Given the description of an element on the screen output the (x, y) to click on. 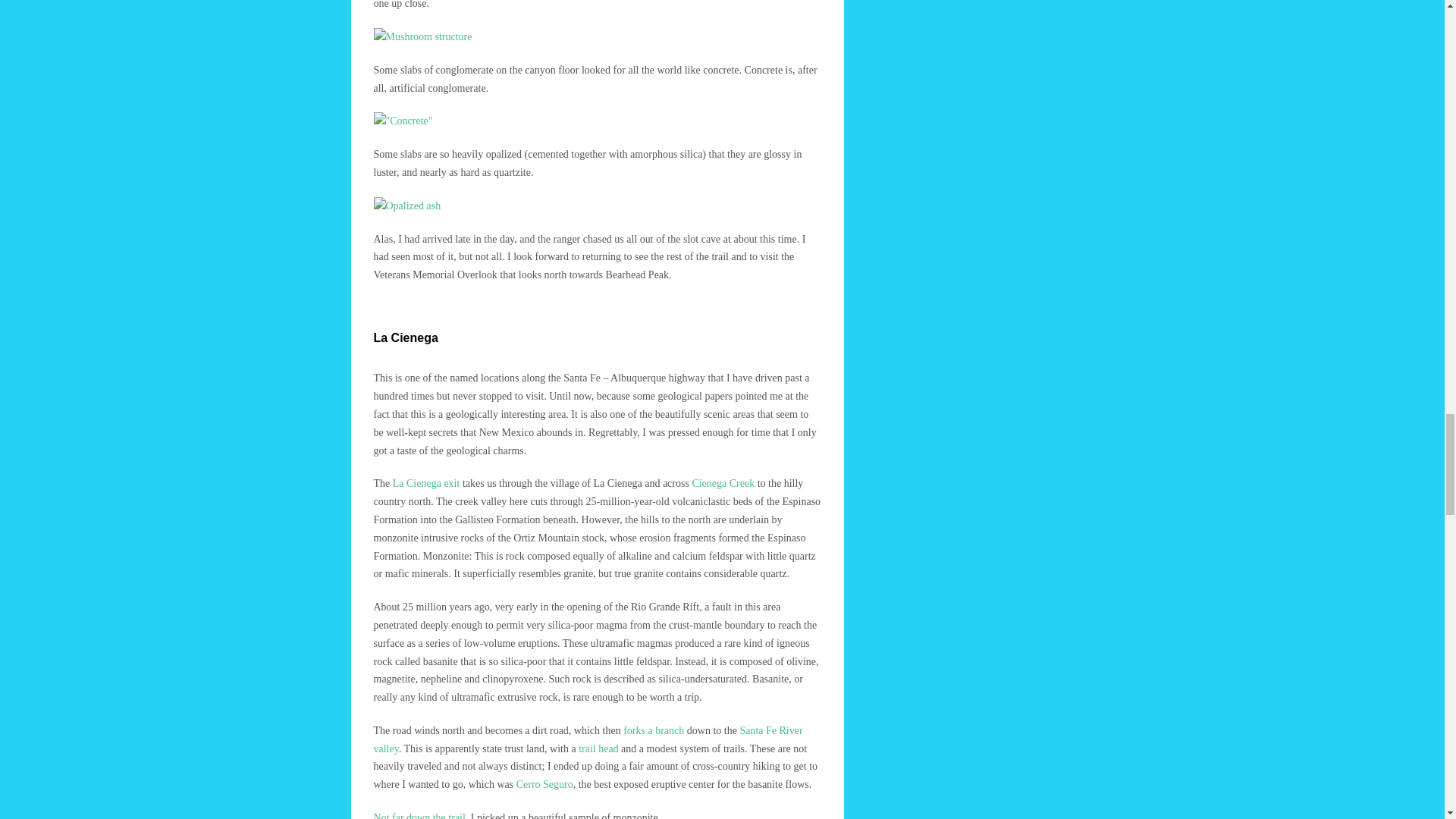
La Cienega exit (426, 482)
forks a branch (653, 730)
Santa Fe River valley (587, 739)
Cienega Creek (722, 482)
